Given the description of an element on the screen output the (x, y) to click on. 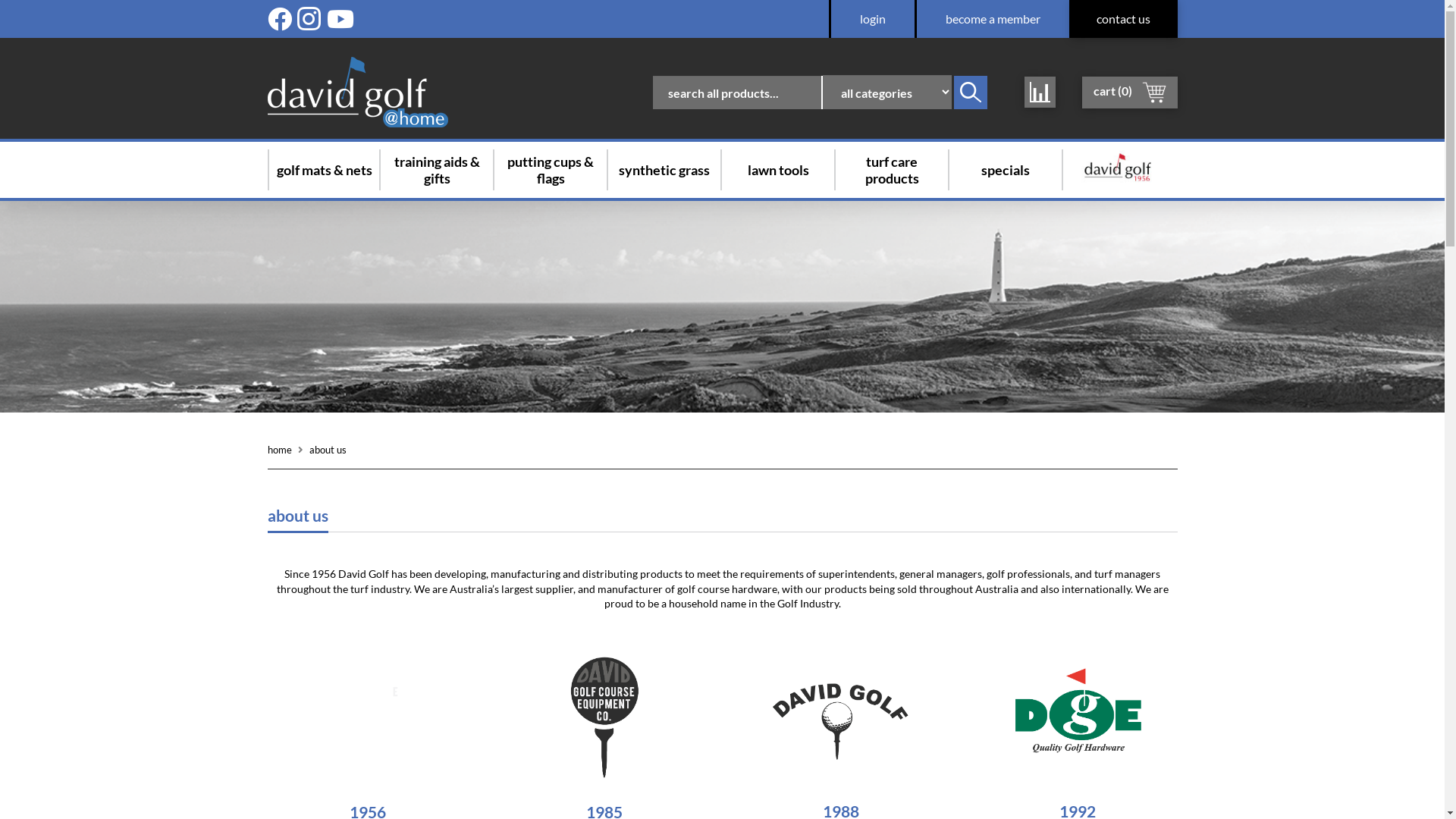
turf care products Element type: text (891, 169)
lawn tools Element type: text (778, 169)
cart (0) Element type: text (1128, 91)
login Element type: text (872, 18)
synthetic grass Element type: text (664, 169)
specials Element type: text (1005, 169)
about us Element type: text (327, 449)
training aids & gifts Element type: text (436, 169)
golf mats & nets Element type: text (323, 169)
putting cups & flags Element type: text (550, 169)
become a member Element type: text (993, 18)
home Element type: text (278, 449)
contact us Element type: text (1123, 18)
